Given the description of an element on the screen output the (x, y) to click on. 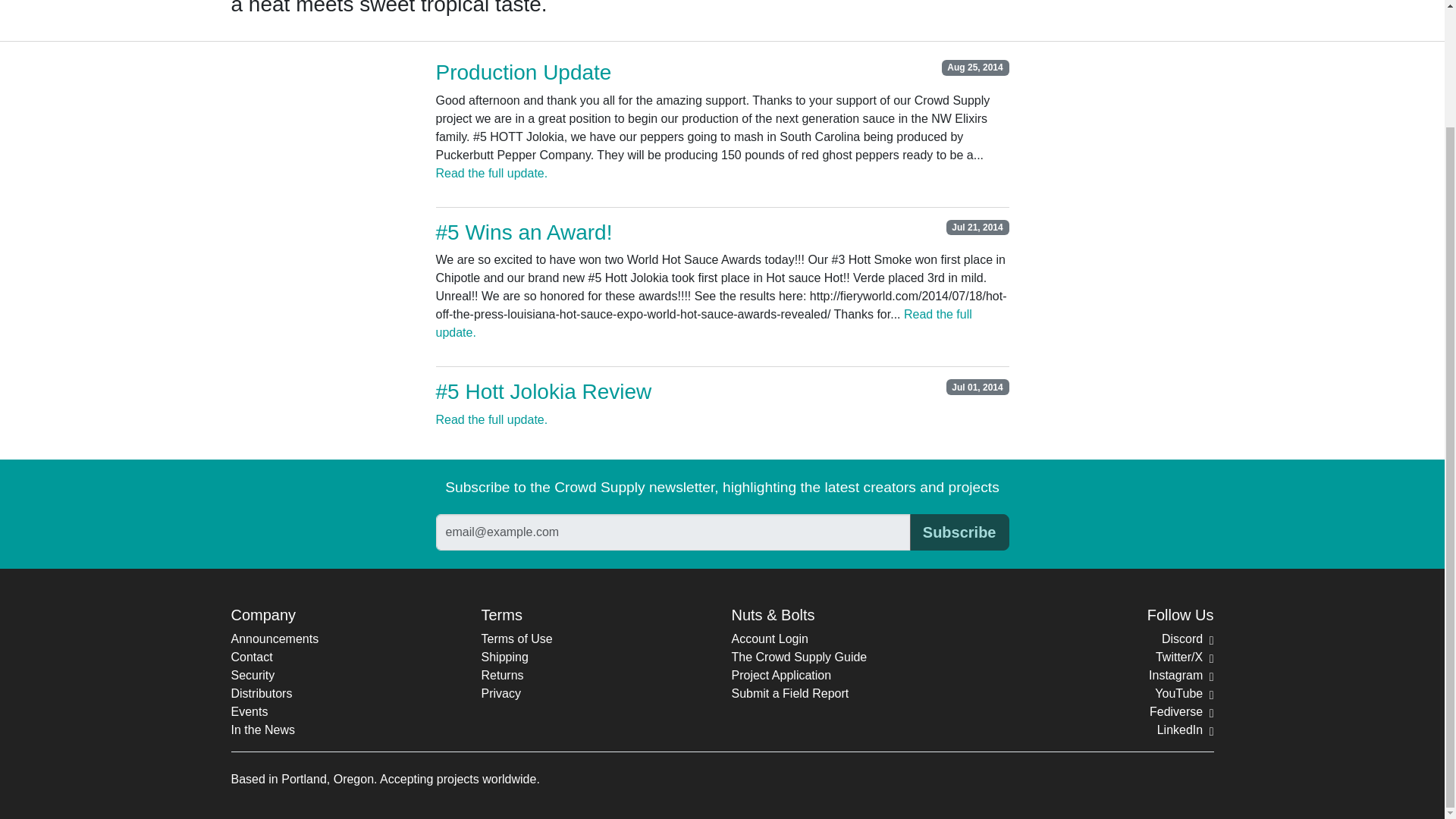
Announcements (274, 638)
Events (248, 711)
Fediverse (1182, 711)
Read the full update. (491, 419)
Security (252, 675)
Project Application (780, 675)
Account Login (769, 638)
Shipping (503, 656)
In the News (262, 729)
Subscribe (959, 532)
Read the full update. (703, 323)
Returns (501, 675)
Contact (251, 656)
Read the full update. (491, 173)
LinkedIn (1185, 729)
